Given the description of an element on the screen output the (x, y) to click on. 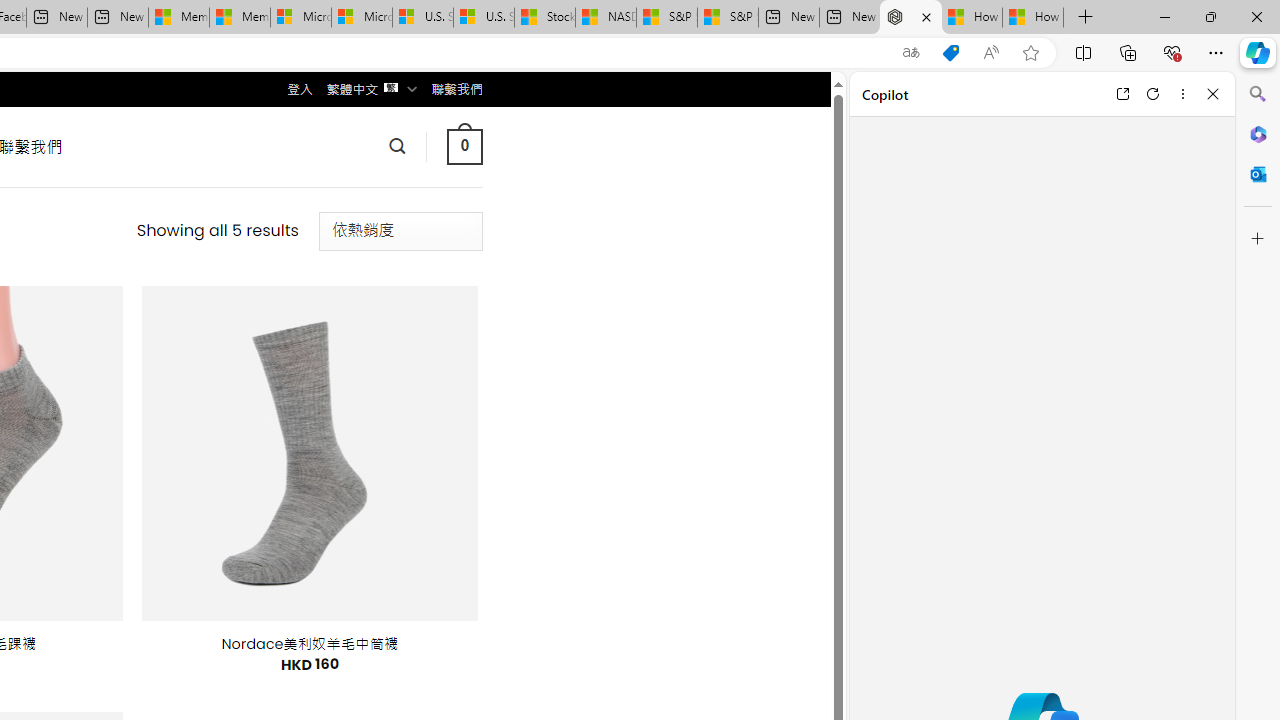
 0  (464, 146)
How to Use a Monitor With Your Closed Laptop (1033, 17)
